Given the description of an element on the screen output the (x, y) to click on. 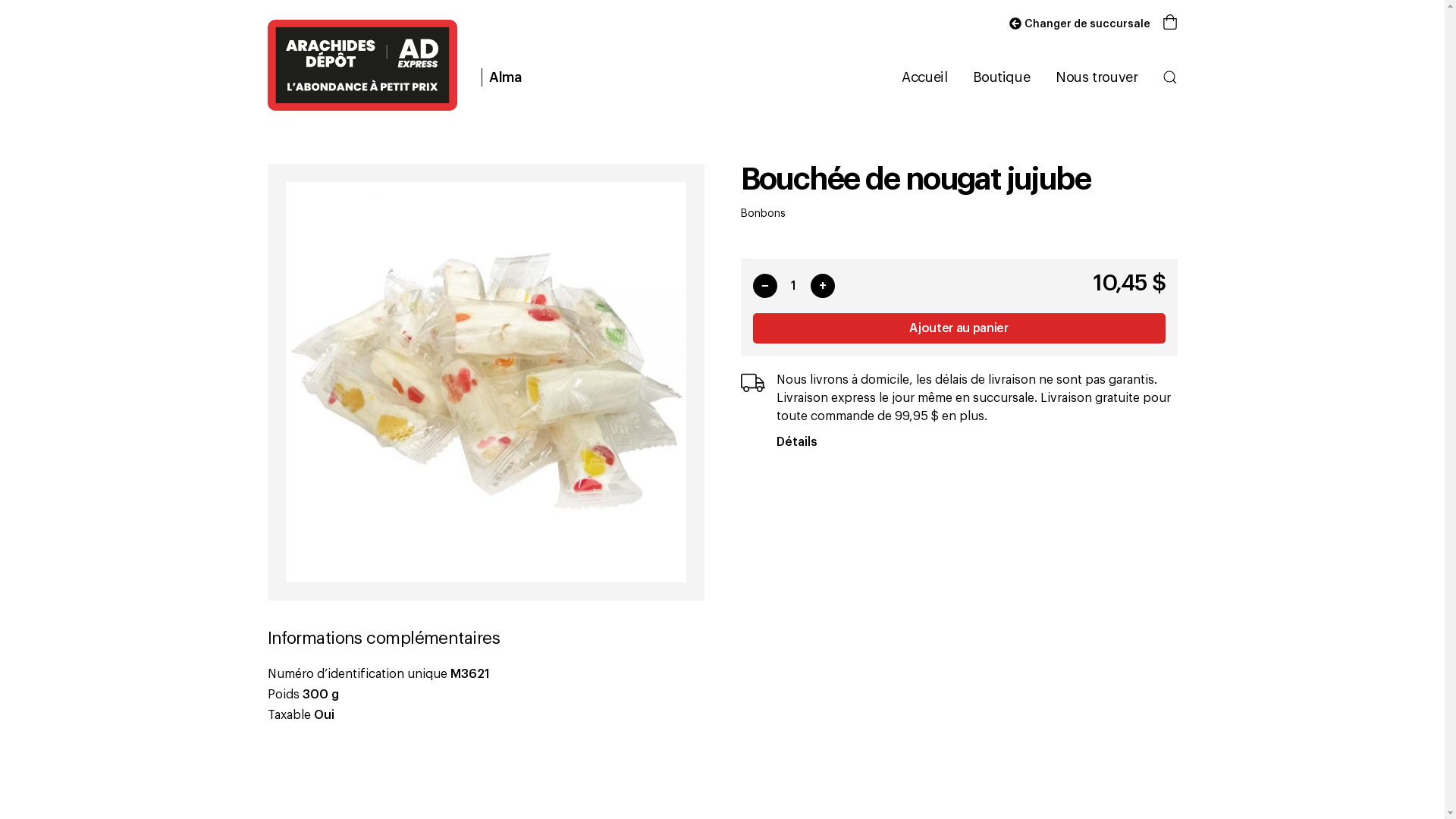
Boutique Element type: text (1000, 77)
Changer de succursale Element type: text (1076, 23)
Accueil Element type: text (923, 77)
Ajouter au panier Element type: text (958, 328)
Nous trouver Element type: text (1095, 77)
Voir le panier Element type: hover (1168, 23)
Bonbons Element type: text (762, 213)
M3621-Nougat-Jujubes.jpg Element type: hover (485, 382)
+ Element type: text (821, 285)
